Given the description of an element on the screen output the (x, y) to click on. 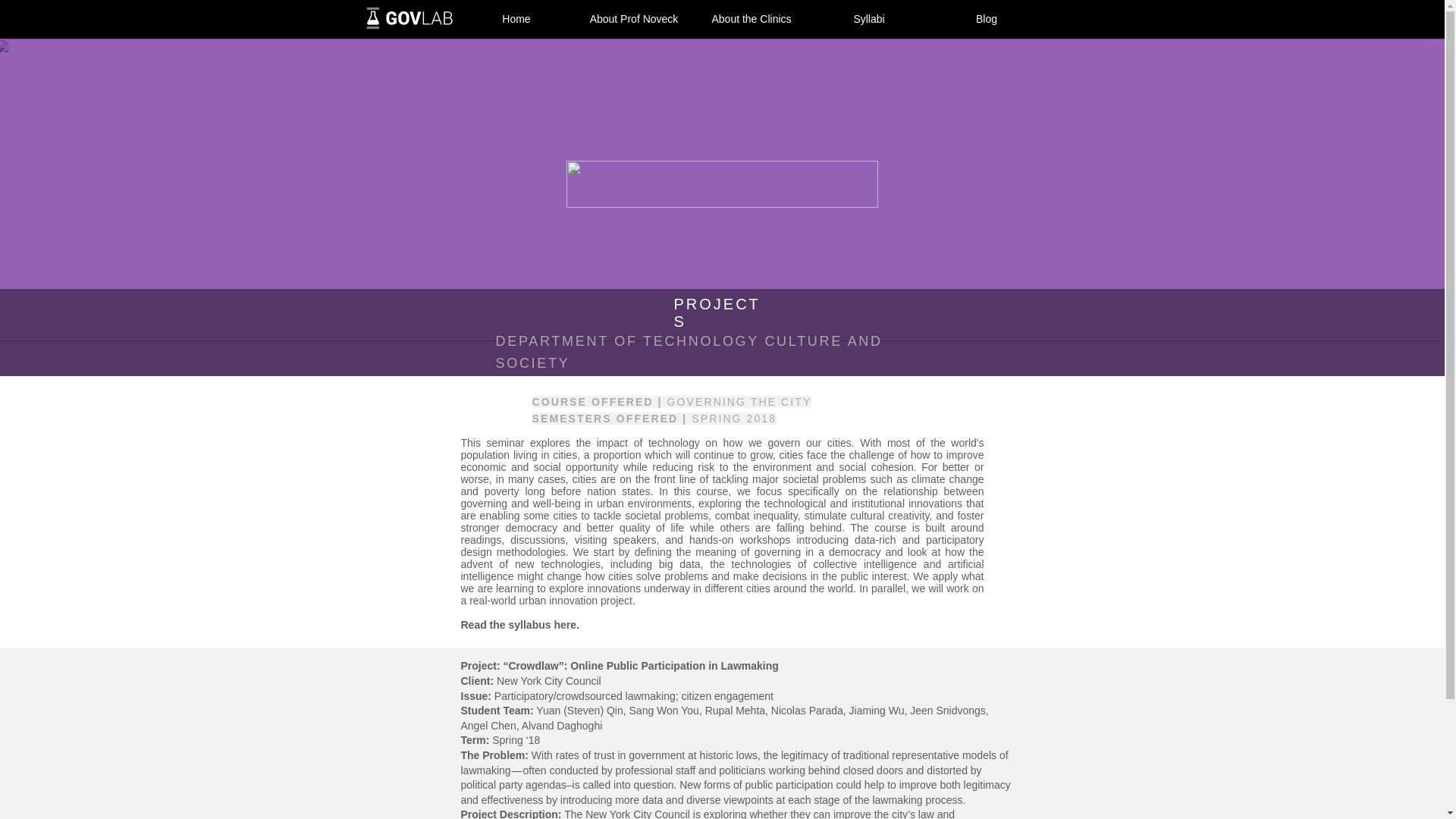
About Prof Noveck (634, 18)
About the Clinics (751, 18)
Syllabi (868, 18)
Blog (986, 18)
Home (516, 18)
